Given the description of an element on the screen output the (x, y) to click on. 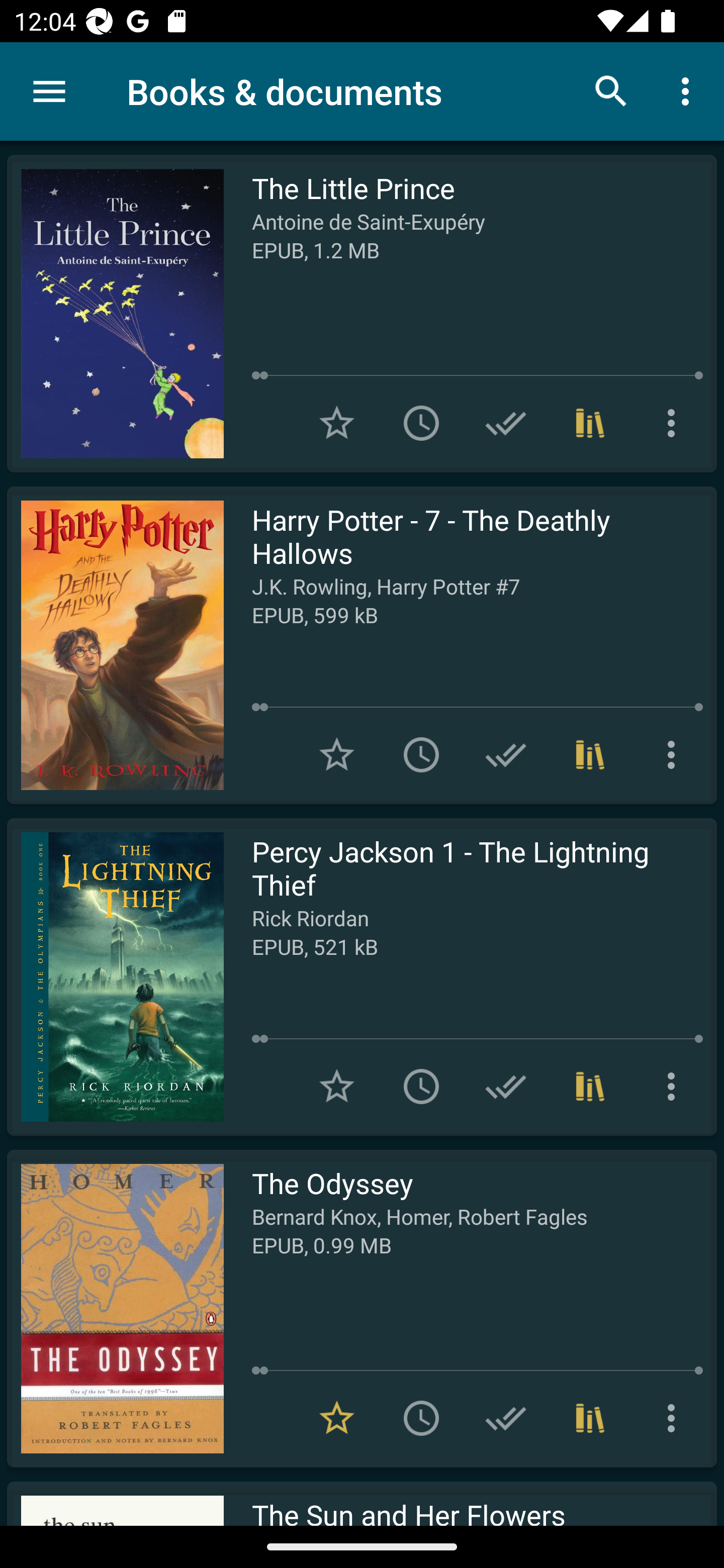
Menu (49, 91)
Search books & documents (611, 90)
More options (688, 90)
Read The Little Prince (115, 313)
Add to Favorites (336, 423)
Add to To read (421, 423)
Add to Have read (505, 423)
Collections (1) (590, 423)
More options (674, 423)
Read Harry Potter - 7 - The Deathly Hallows (115, 645)
Add to Favorites (336, 753)
Add to To read (421, 753)
Add to Have read (505, 753)
Collections (1) (590, 753)
More options (674, 753)
Read Percy Jackson 1 - The Lightning Thief (115, 976)
Add to Favorites (336, 1086)
